Given the description of an element on the screen output the (x, y) to click on. 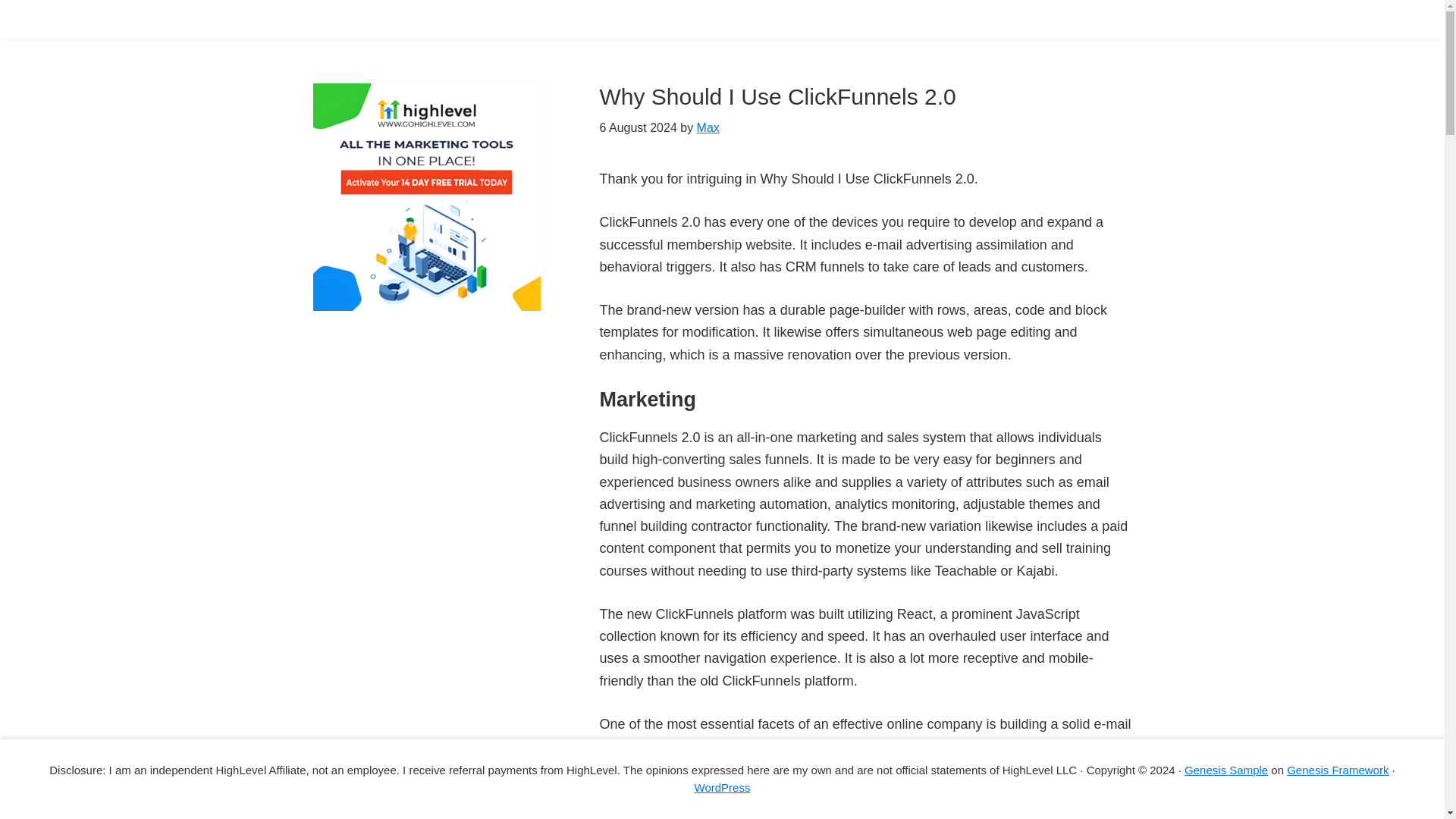
WordPress (722, 787)
Genesis Sample (1226, 769)
Genesis Framework (1338, 769)
Max (708, 127)
